Given the description of an element on the screen output the (x, y) to click on. 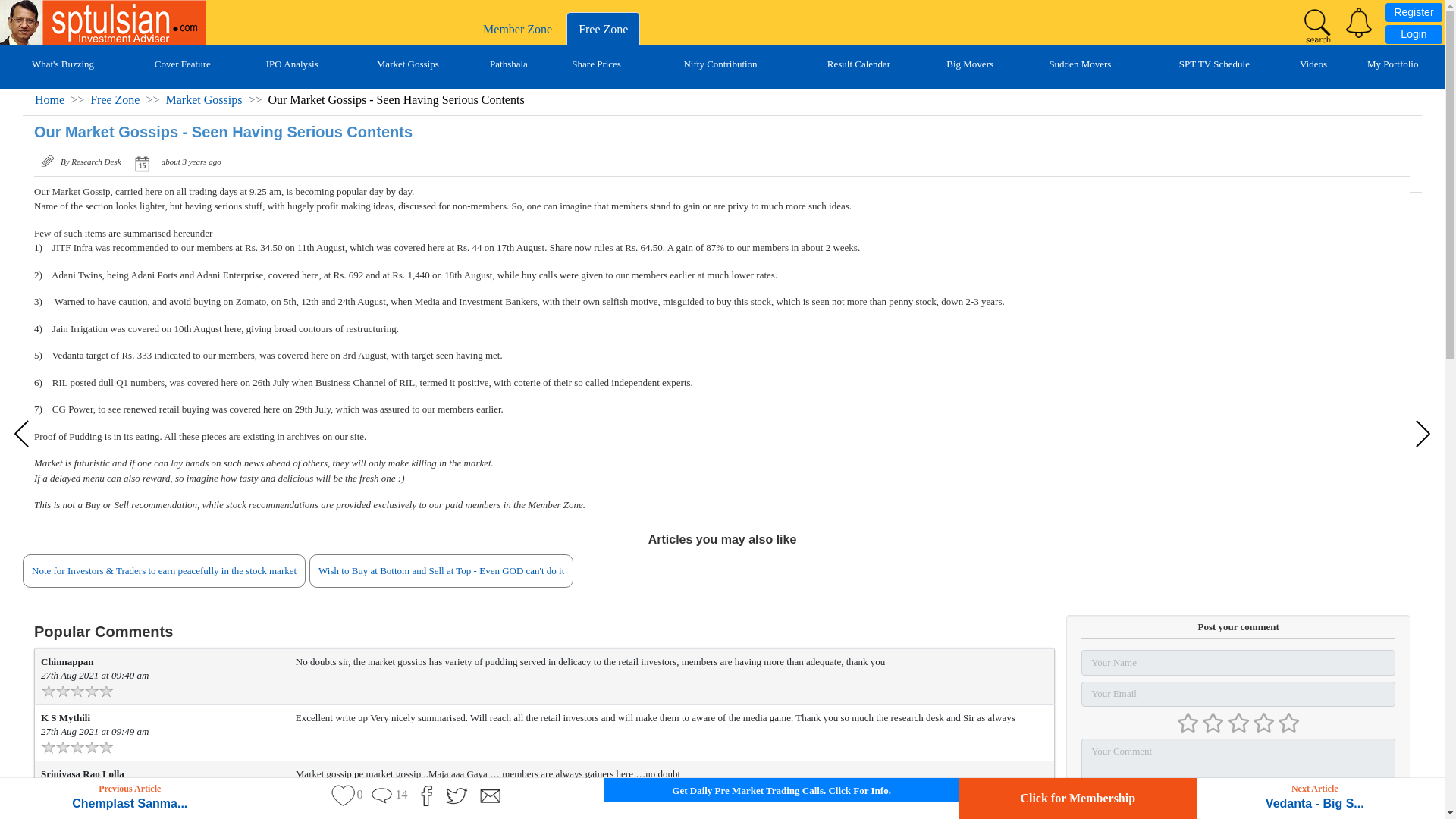
Not Rated (1237, 723)
Result Calendar (858, 63)
Market Gossips (408, 63)
Login (1414, 34)
Cover Feature (182, 63)
Register (1414, 12)
Sudden Movers (1079, 63)
My Portfolio (1392, 63)
Chemplast Sanmar- Recent Listing (24, 433)
Market Gossips (204, 99)
